Given the description of an element on the screen output the (x, y) to click on. 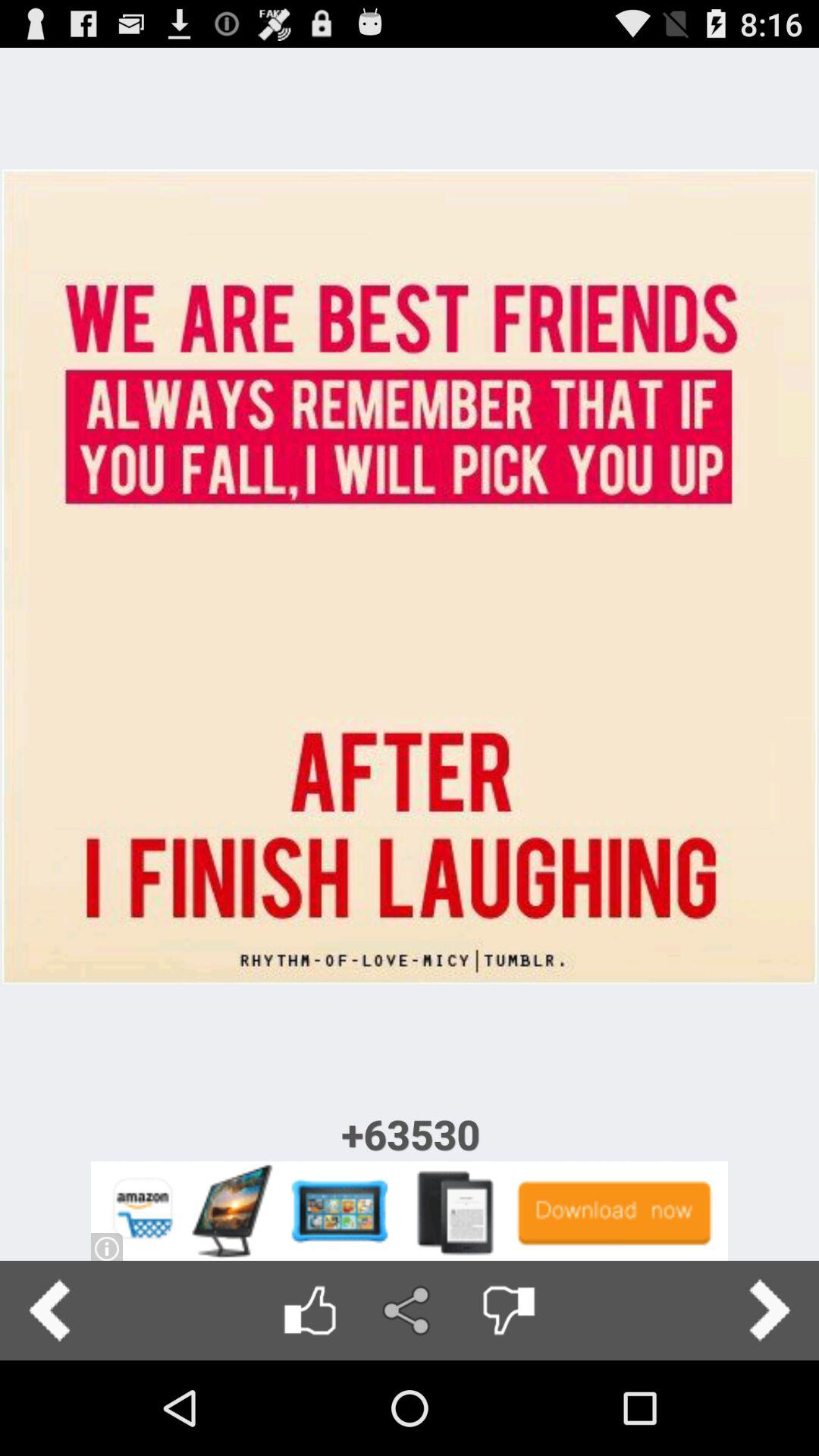
select network communication (408, 1310)
